Given the description of an element on the screen output the (x, y) to click on. 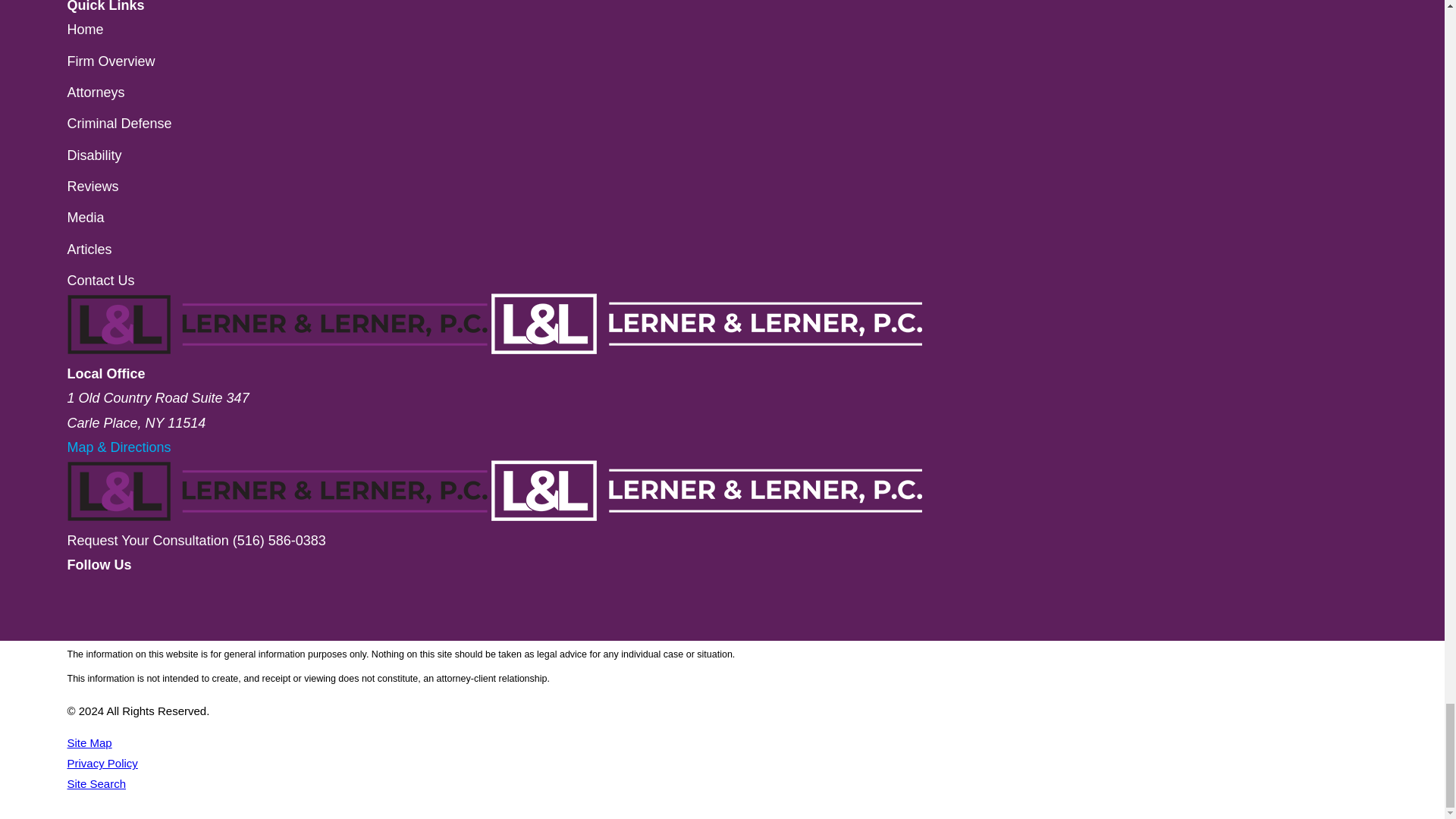
Home (493, 349)
Facebook (73, 603)
Twitter (73, 627)
Home (493, 516)
